Given the description of an element on the screen output the (x, y) to click on. 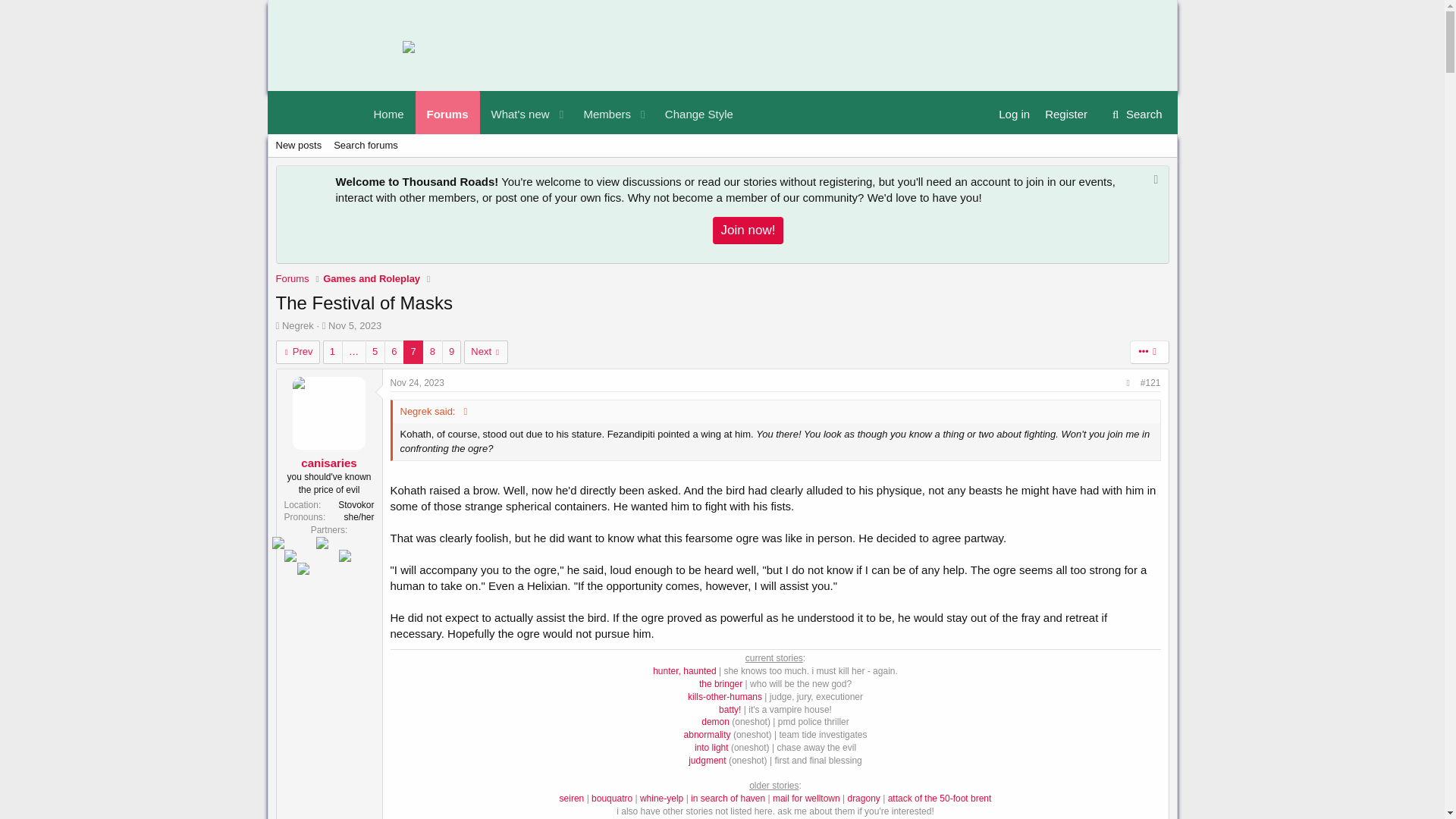
Nov 24, 2023 at 3:44 PM (417, 382)
Forums (553, 112)
Negrek (447, 112)
Join now! (298, 325)
Change Style (748, 230)
Nov 5, 2023 (698, 112)
Nov 5, 2023 at 4:19 AM (553, 112)
Search forums (355, 325)
Members (355, 325)
Log in (365, 145)
Search (721, 145)
Home (601, 112)
